Given the description of an element on the screen output the (x, y) to click on. 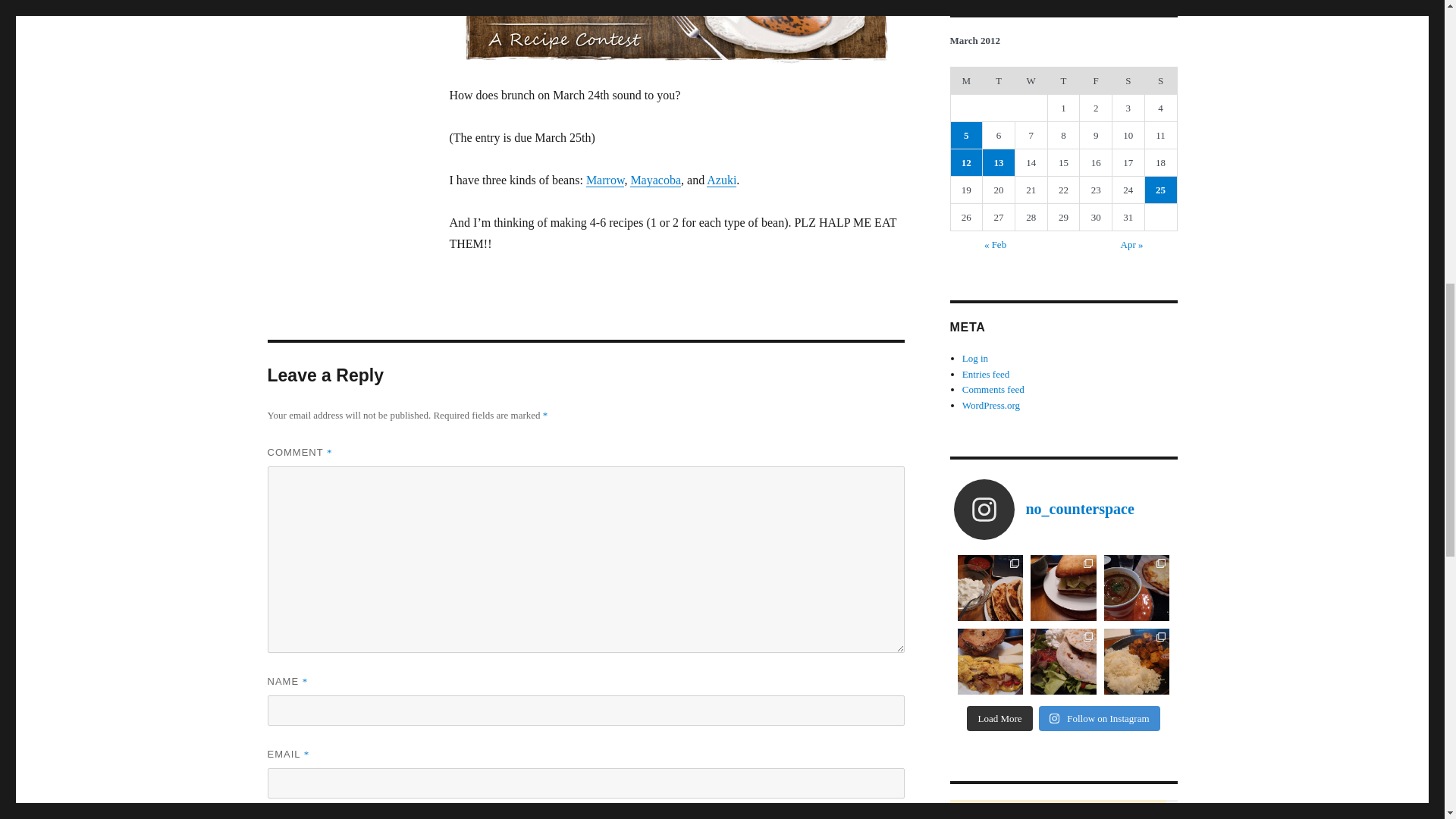
Friday (1096, 80)
Entries feed (985, 374)
Load More (999, 718)
13 (998, 162)
5 (966, 135)
Mayacoba (655, 179)
Follow on Instagram (1099, 718)
Wednesday (1030, 80)
Tuesday (998, 80)
25 (1160, 189)
Thursday (1063, 80)
12 (966, 162)
Saturday (1128, 80)
WordPress.org (991, 405)
